Given the description of an element on the screen output the (x, y) to click on. 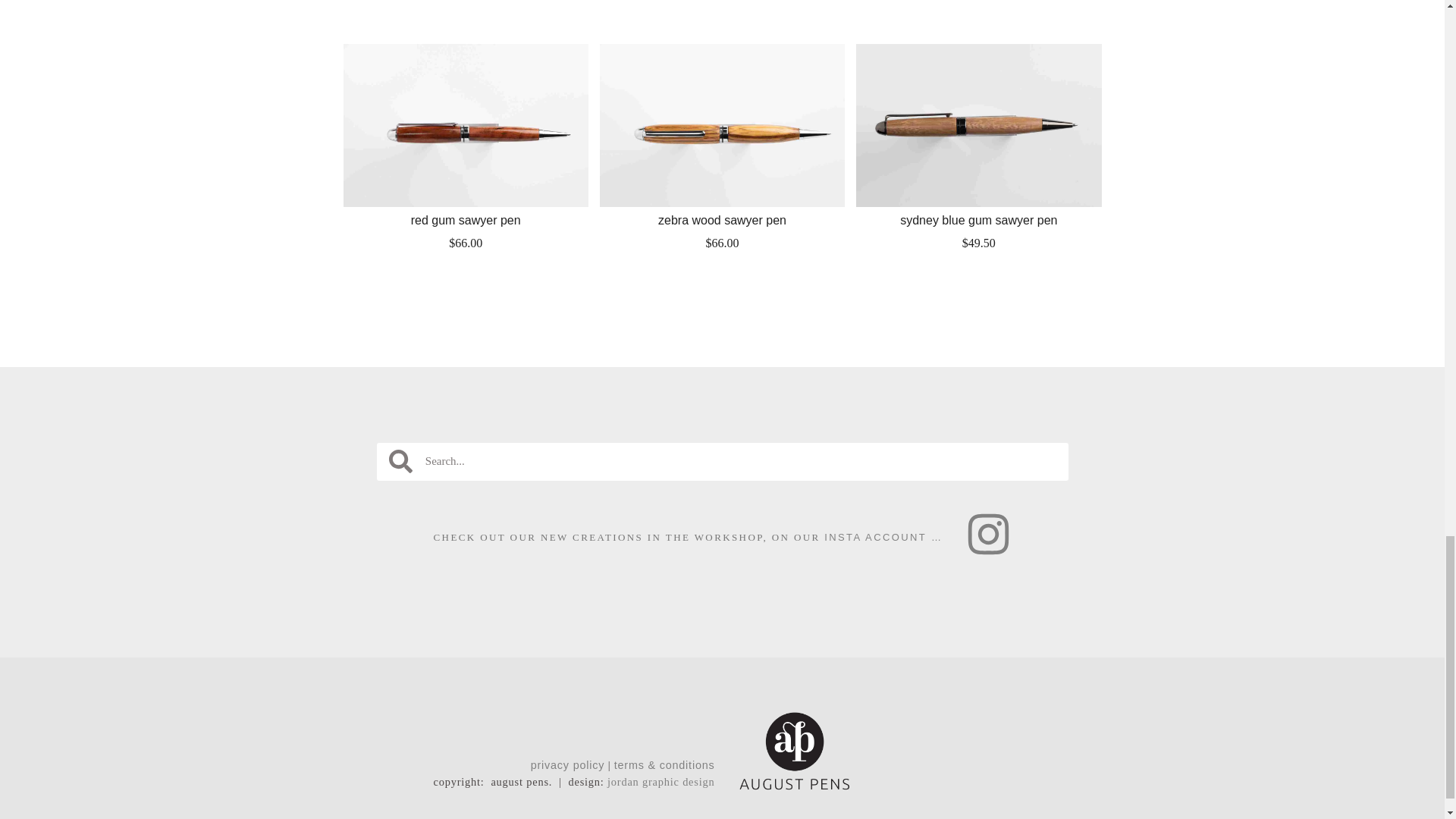
ADD TO CART (465, 276)
jordan graphic design (660, 781)
ADD TO CART (721, 276)
ADD TO CART (978, 276)
privacy policy (568, 765)
